Given the description of an element on the screen output the (x, y) to click on. 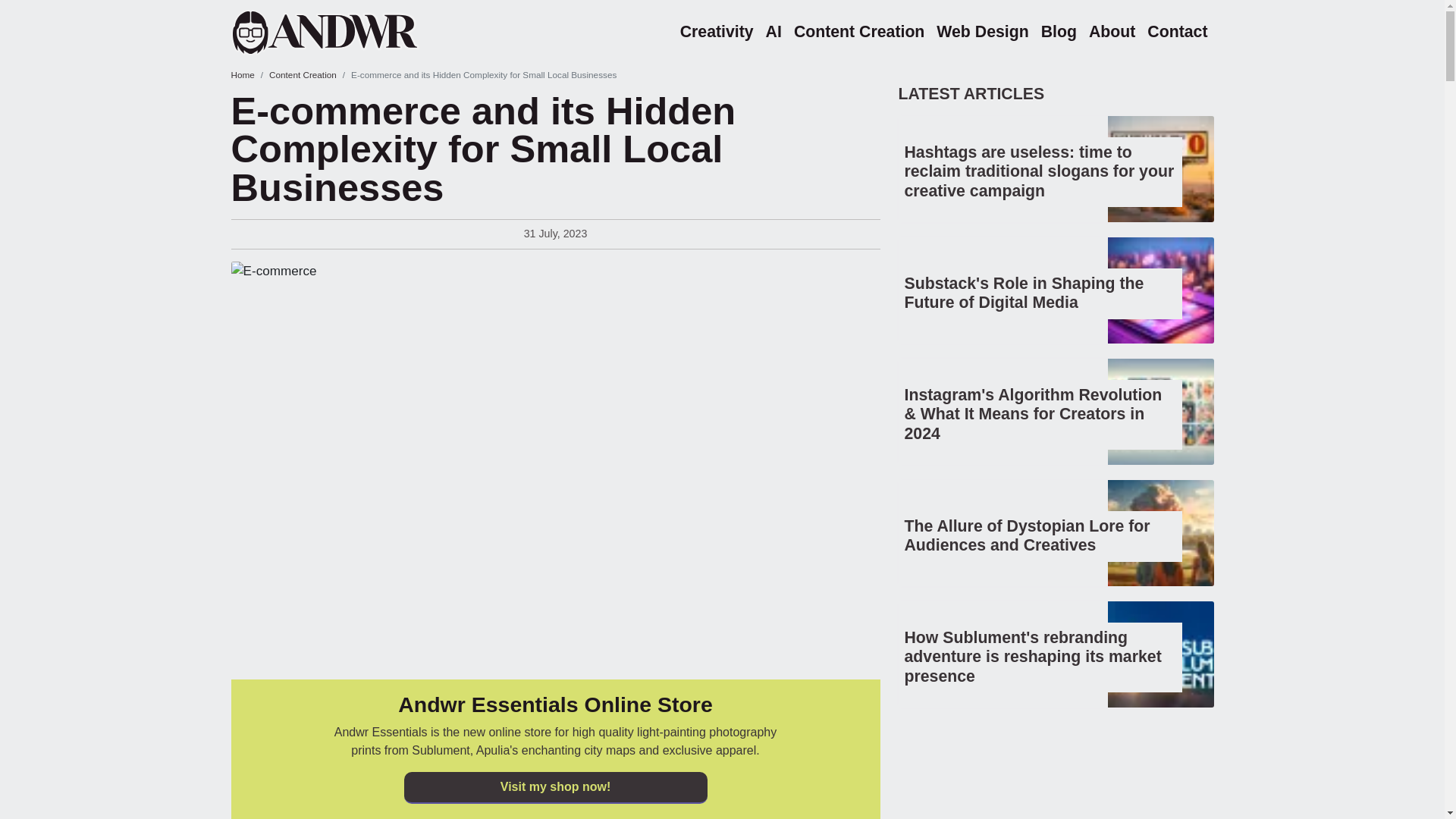
andwr (344, 31)
Content Creation (302, 74)
Content Creation (858, 32)
Creativity (717, 32)
Substack's Role in Shaping the Future of Digital Media (1024, 293)
About (1112, 32)
Visit my shop now! (554, 787)
Blog (1059, 32)
Home (241, 74)
